Given the description of an element on the screen output the (x, y) to click on. 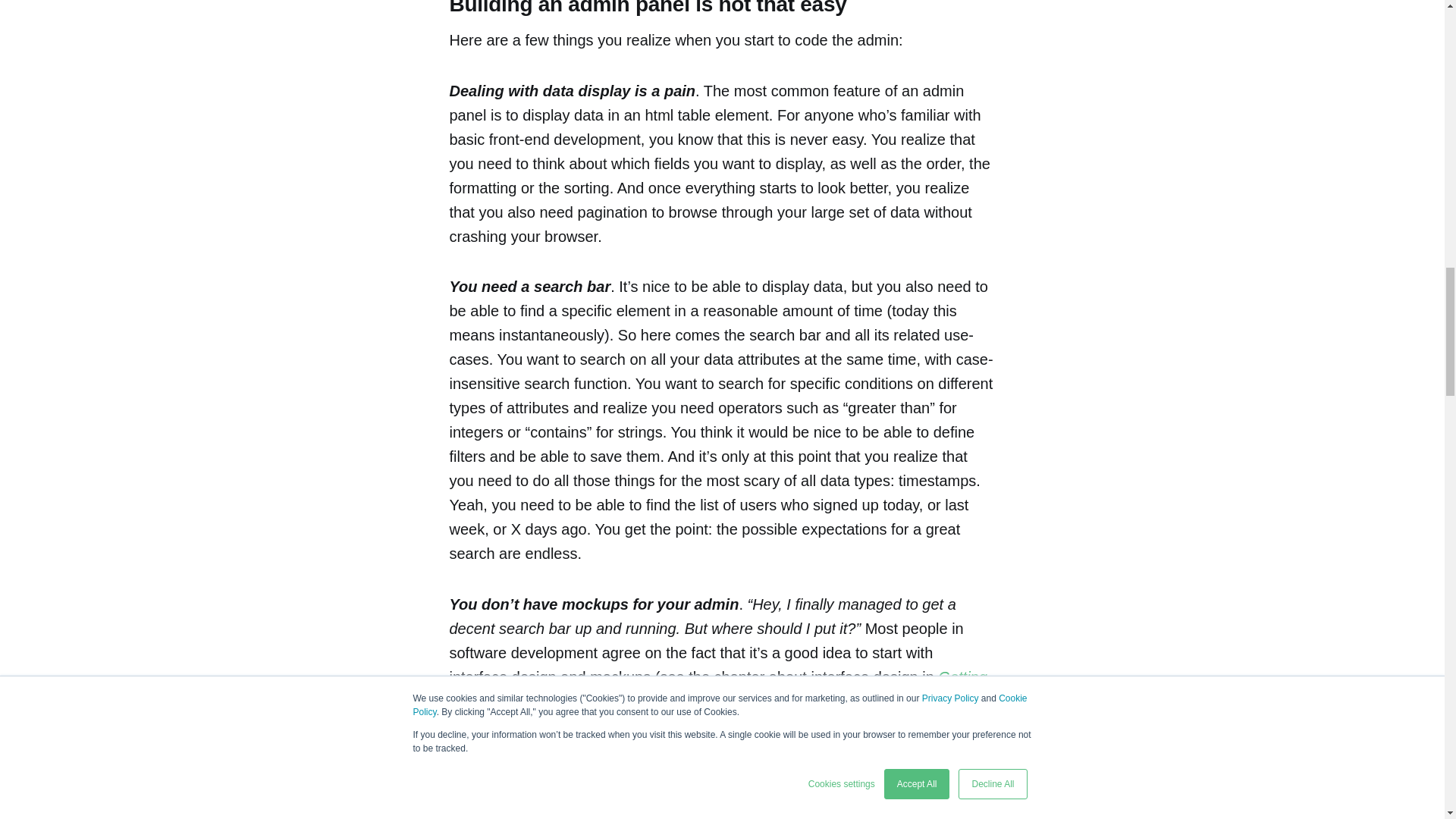
Getting Real (717, 689)
